Given the description of an element on the screen output the (x, y) to click on. 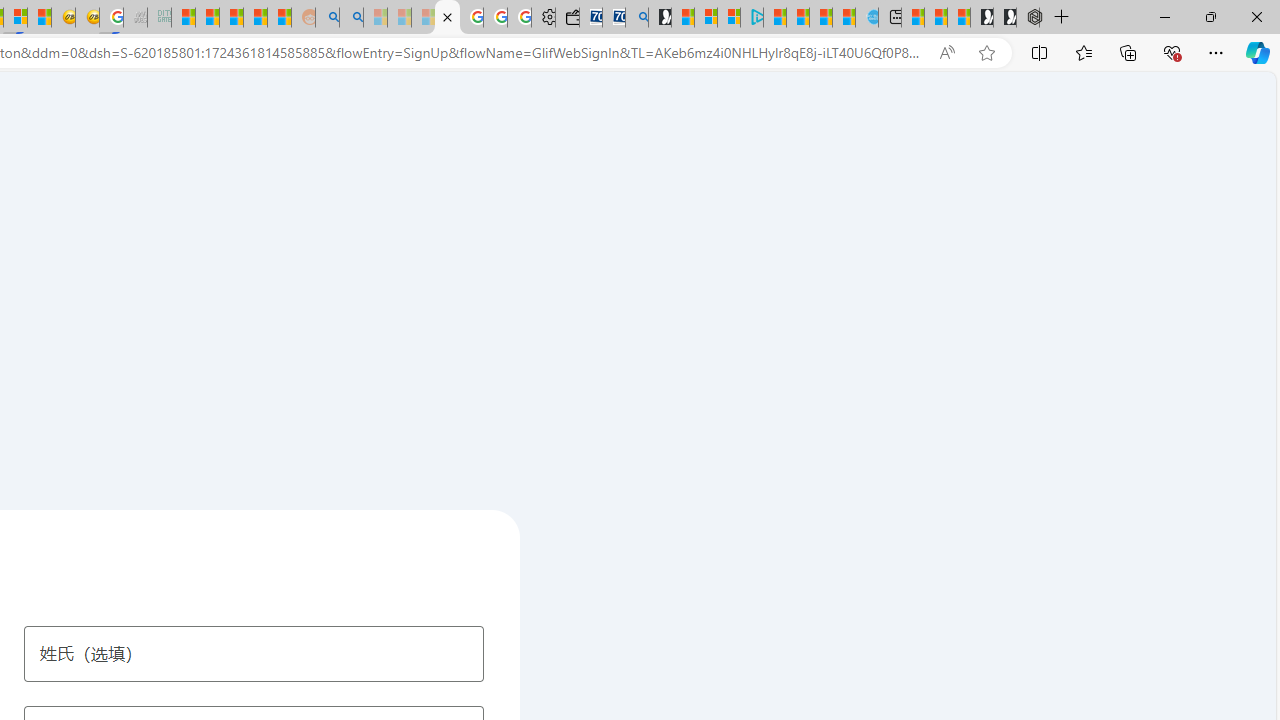
Wallet (566, 17)
